Given the description of an element on the screen output the (x, y) to click on. 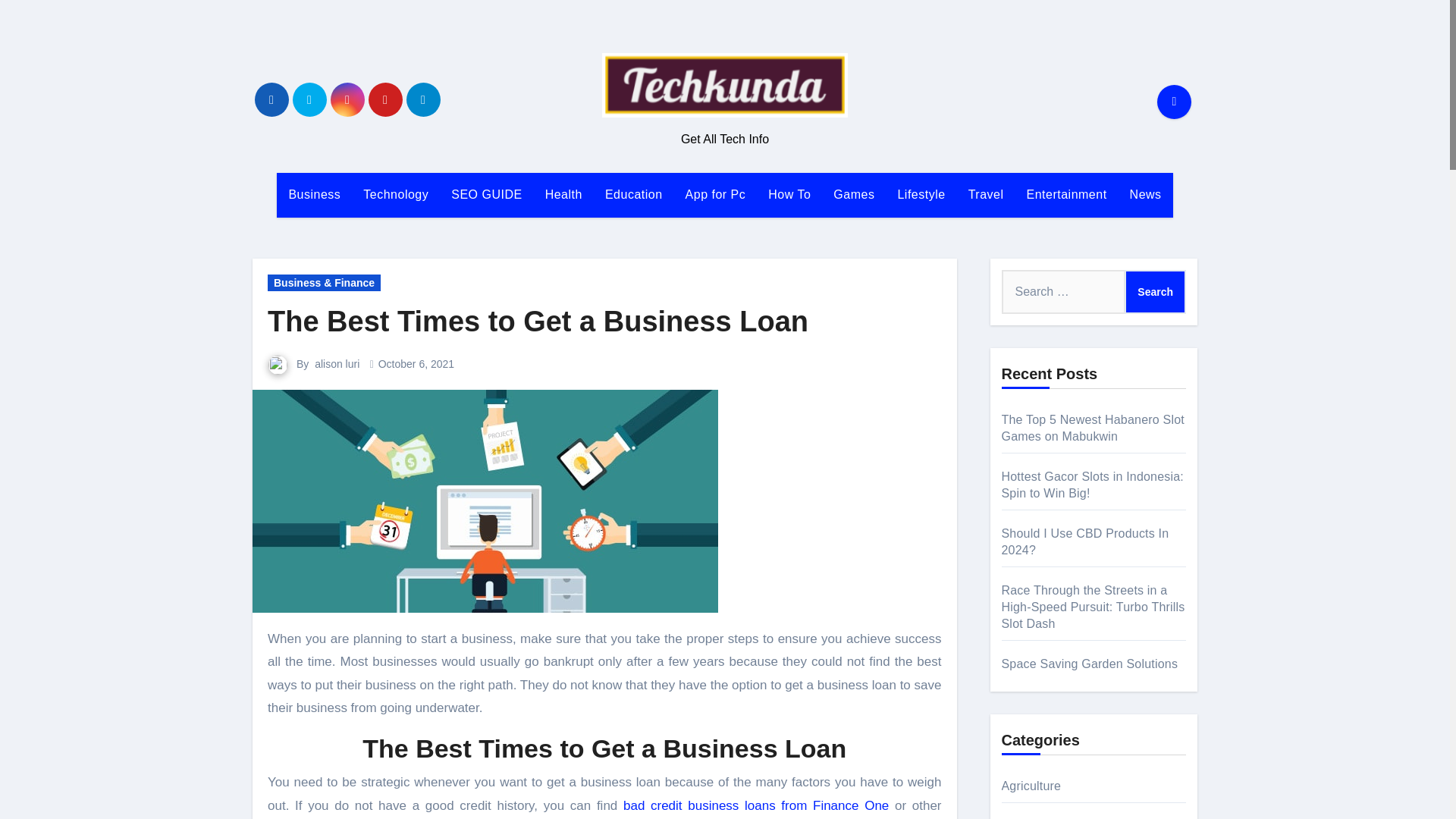
How To (789, 194)
Entertainment (1066, 194)
The Best Times to Get a Business Loan (537, 321)
Search (1155, 291)
Business (314, 194)
SEO GUIDE (485, 194)
alison luri (336, 363)
Business (314, 194)
Health (564, 194)
bad credit business loans from Finance One (755, 805)
